Given the description of an element on the screen output the (x, y) to click on. 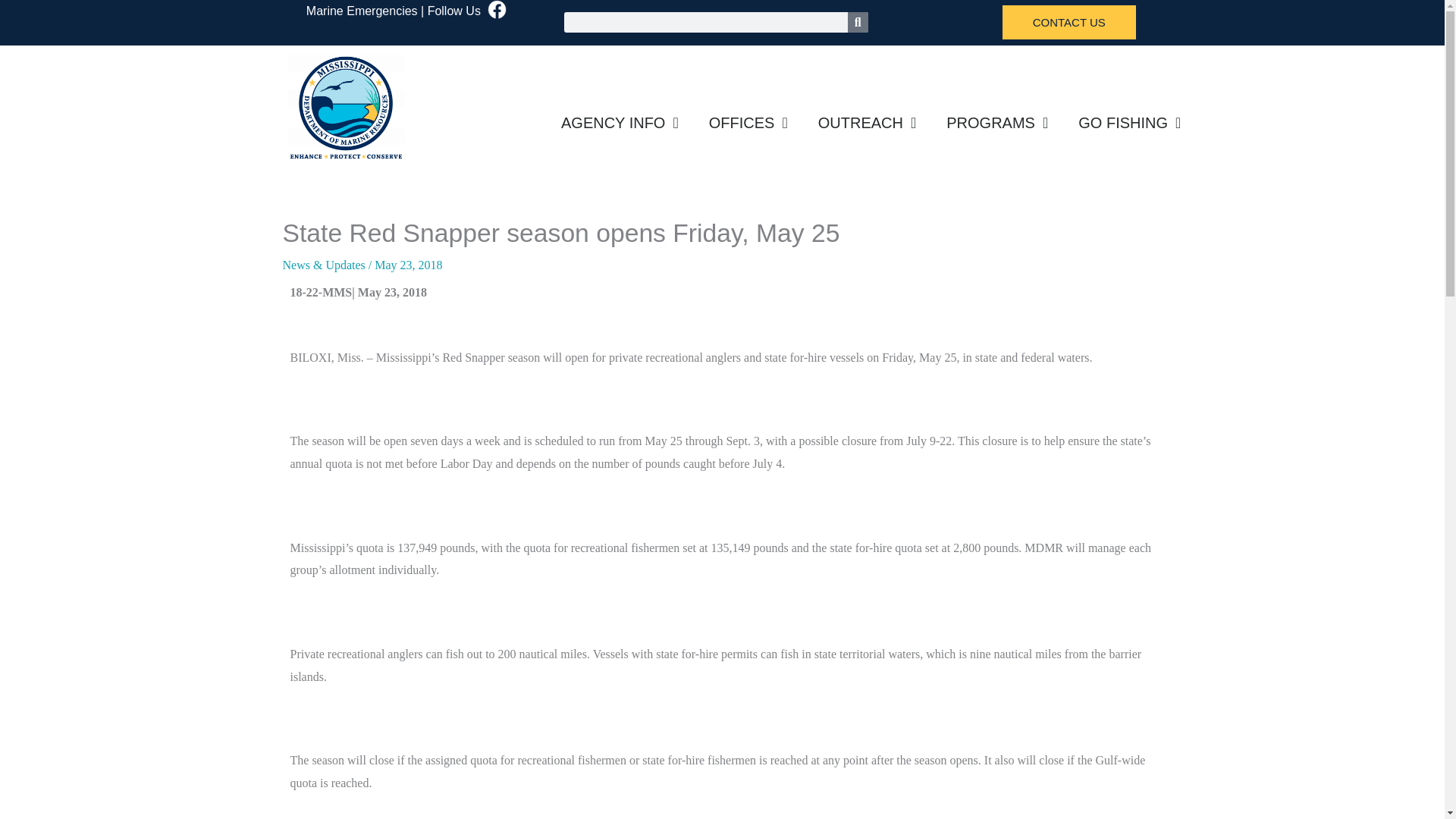
Search (857, 22)
AGENCY INFO (620, 122)
OFFICES (748, 122)
Marine Emergencies (361, 10)
CONTACT US (1069, 22)
Follow Us (454, 10)
